Given the description of an element on the screen output the (x, y) to click on. 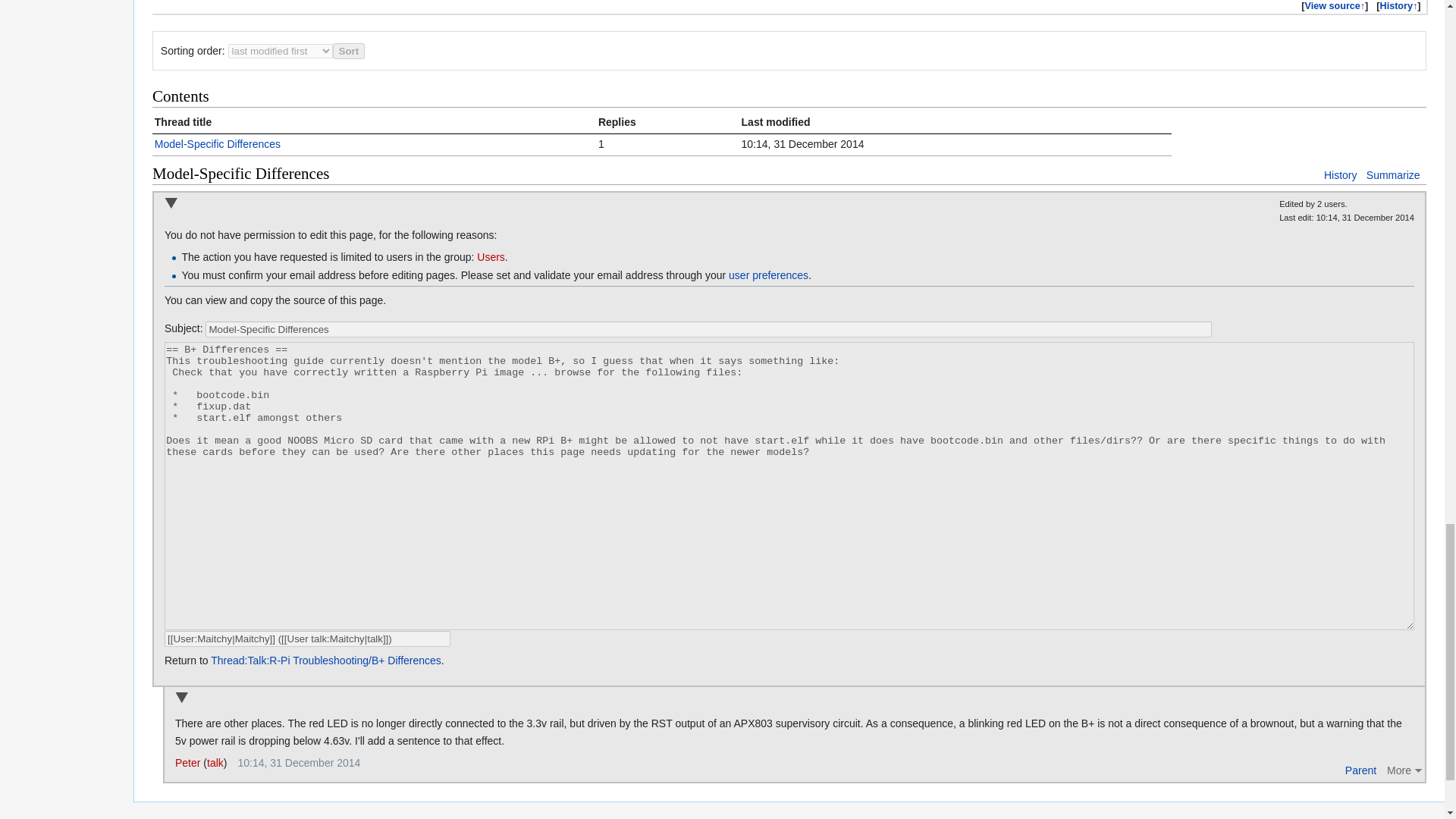
talk (215, 762)
Collapse (170, 204)
Talk:R-Pi Troubleshooting (1334, 5)
Collapse (180, 698)
Peter (187, 762)
Summarize (1394, 174)
Model-Specific Differences (217, 143)
Talk:R-Pi Troubleshooting (1399, 5)
Sort (349, 50)
Sort (349, 50)
Users (491, 256)
user preferences (768, 275)
Model-Specific Differences  (708, 329)
History (1339, 174)
Special:Preferences (768, 275)
